Given the description of an element on the screen output the (x, y) to click on. 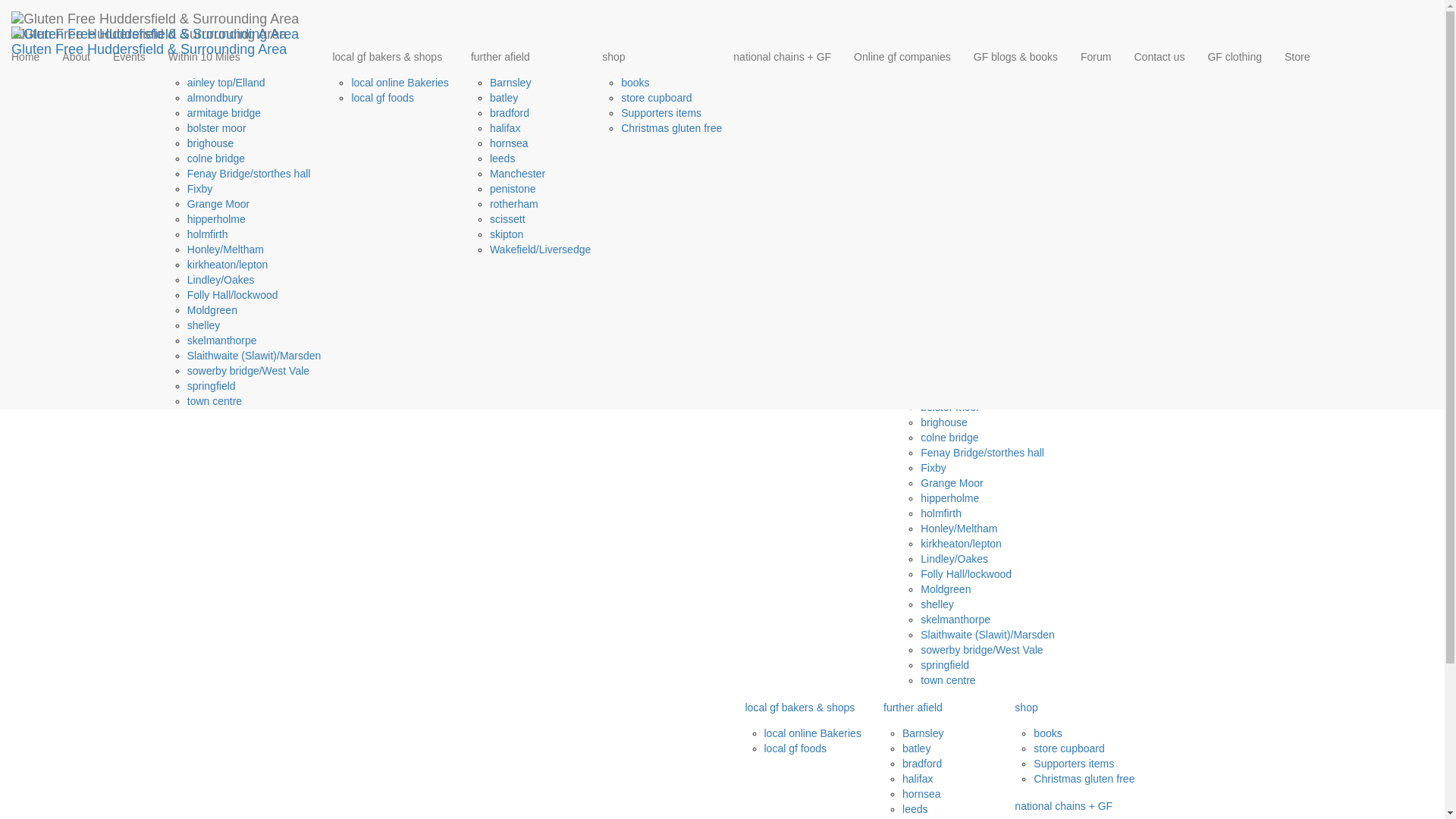
rotherham (513, 203)
hornsea (508, 143)
further afield   (525, 56)
Barnsley (510, 82)
Events (129, 56)
penistone (512, 188)
Manchester (516, 173)
brighouse (210, 143)
halifax (504, 128)
local gf foods (381, 97)
bolster moor (216, 128)
springfield (211, 386)
shelley (204, 325)
batley (503, 97)
skelmanthorpe (222, 340)
